Given the description of an element on the screen output the (x, y) to click on. 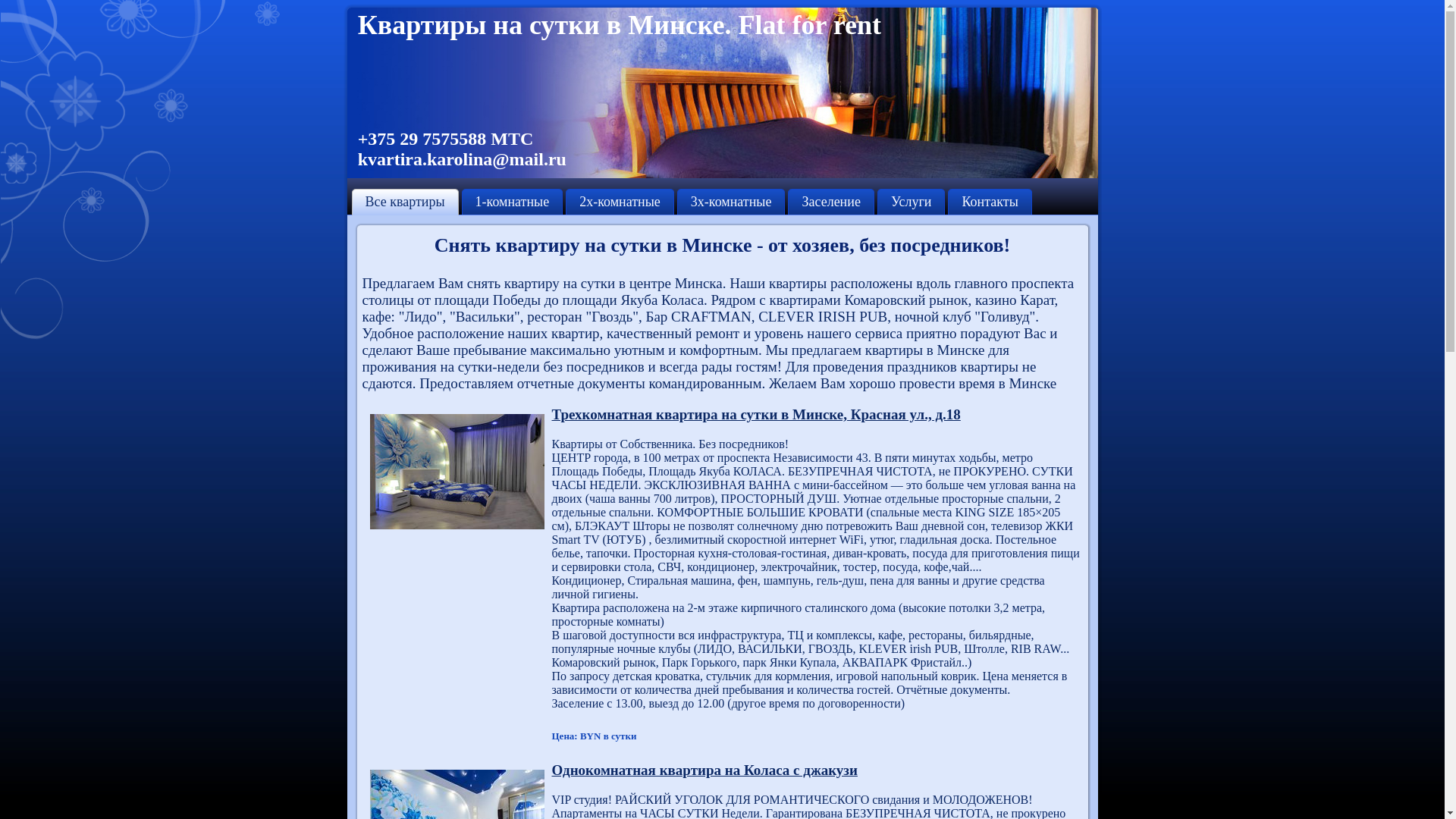
kvartira.karolina@mail.ru Element type: text (461, 159)
